Given the description of an element on the screen output the (x, y) to click on. 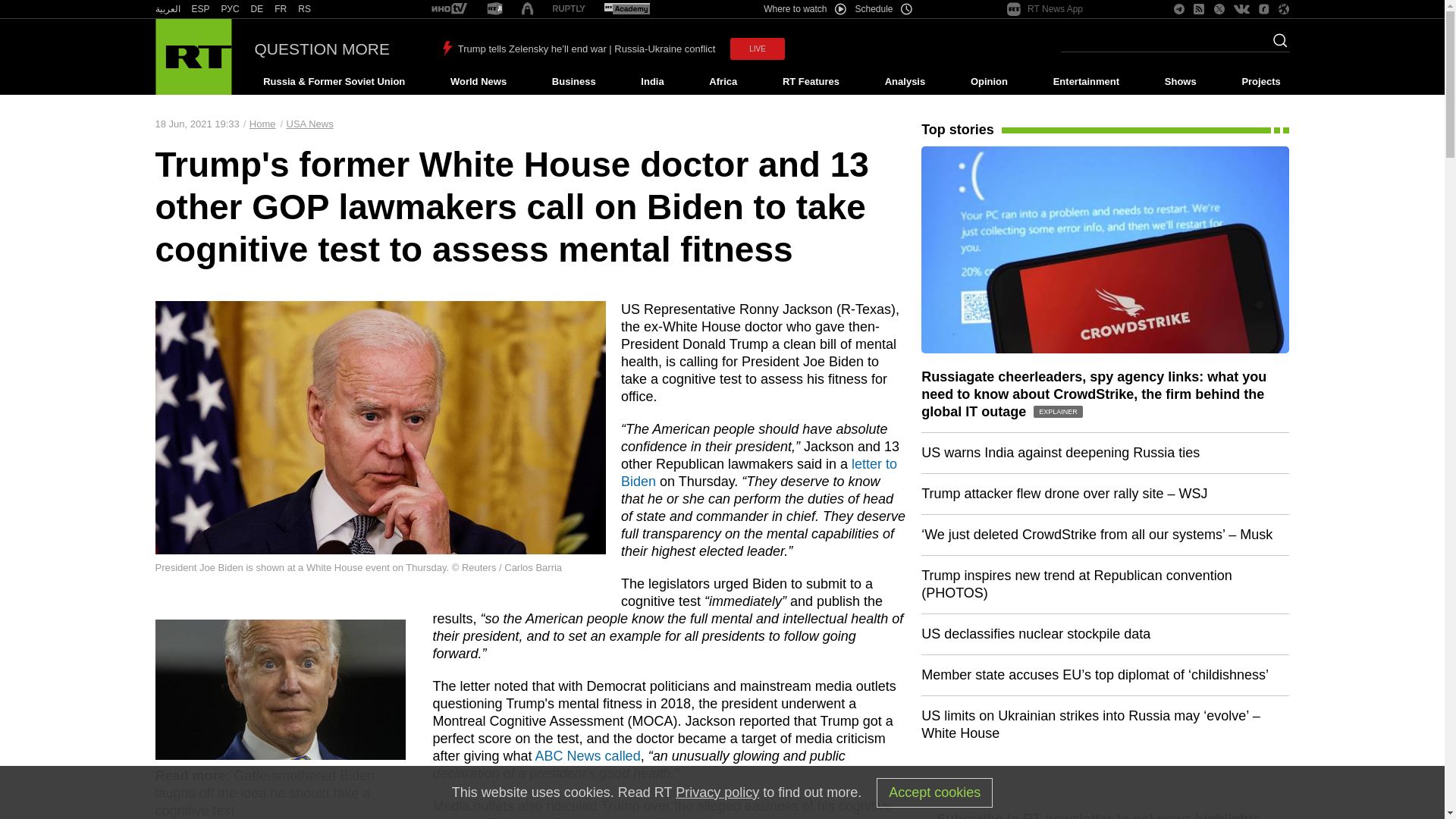
Analysis (905, 81)
Africa (722, 81)
Search (1276, 44)
RT  (569, 8)
Entertainment (1085, 81)
FR (280, 9)
RT Features (810, 81)
Opinion (988, 81)
Business (573, 81)
World News (478, 81)
RT  (199, 9)
LIVE (757, 48)
Shows (1180, 81)
RT  (280, 9)
RT  (230, 9)
